Given the description of an element on the screen output the (x, y) to click on. 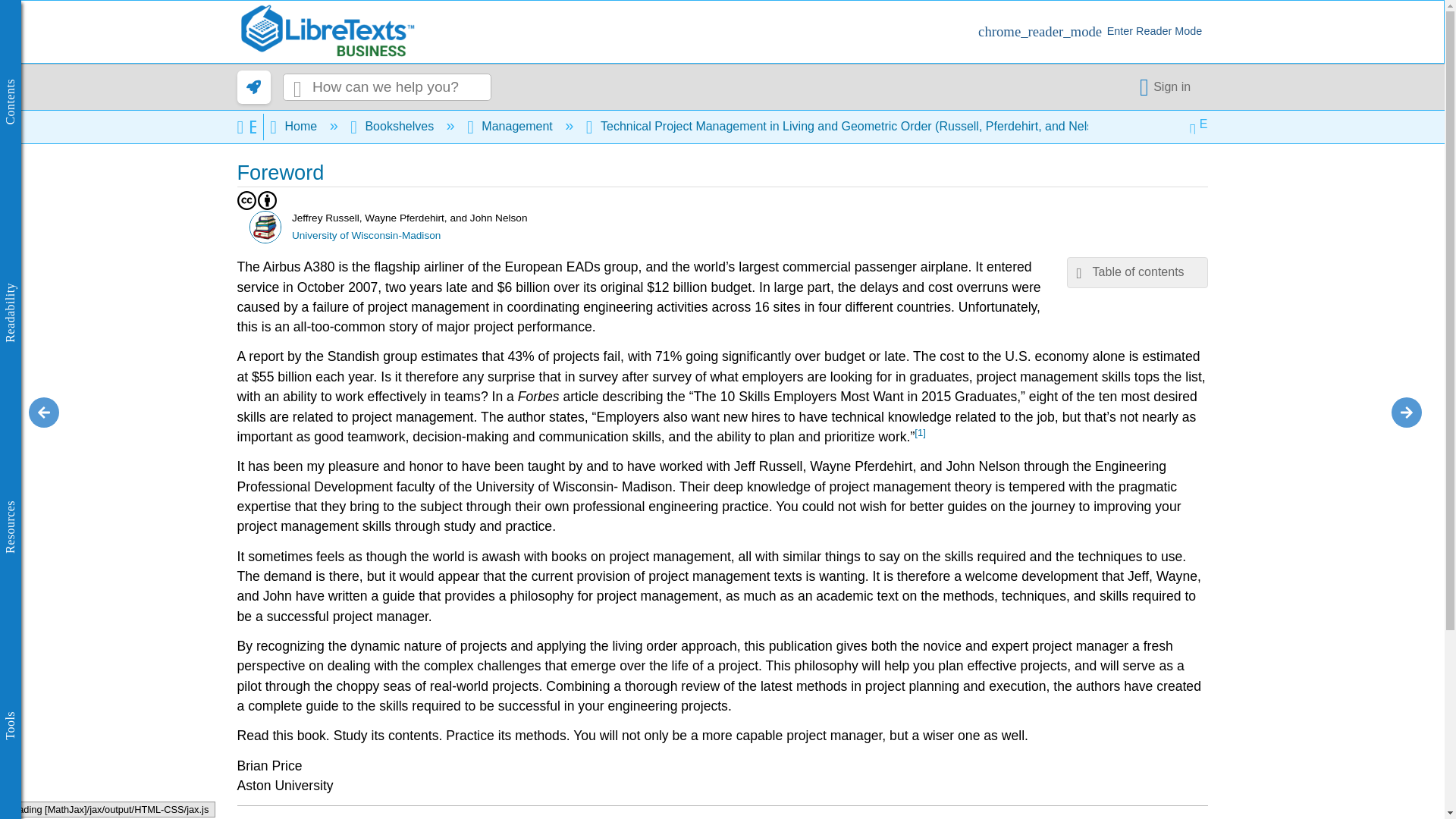
BY (266, 199)
CC (246, 199)
Jeffrey Russell, Wayne Pferdehirt, and John Nelson (265, 226)
Single Sign-On (1167, 86)
